Given the description of an element on the screen output the (x, y) to click on. 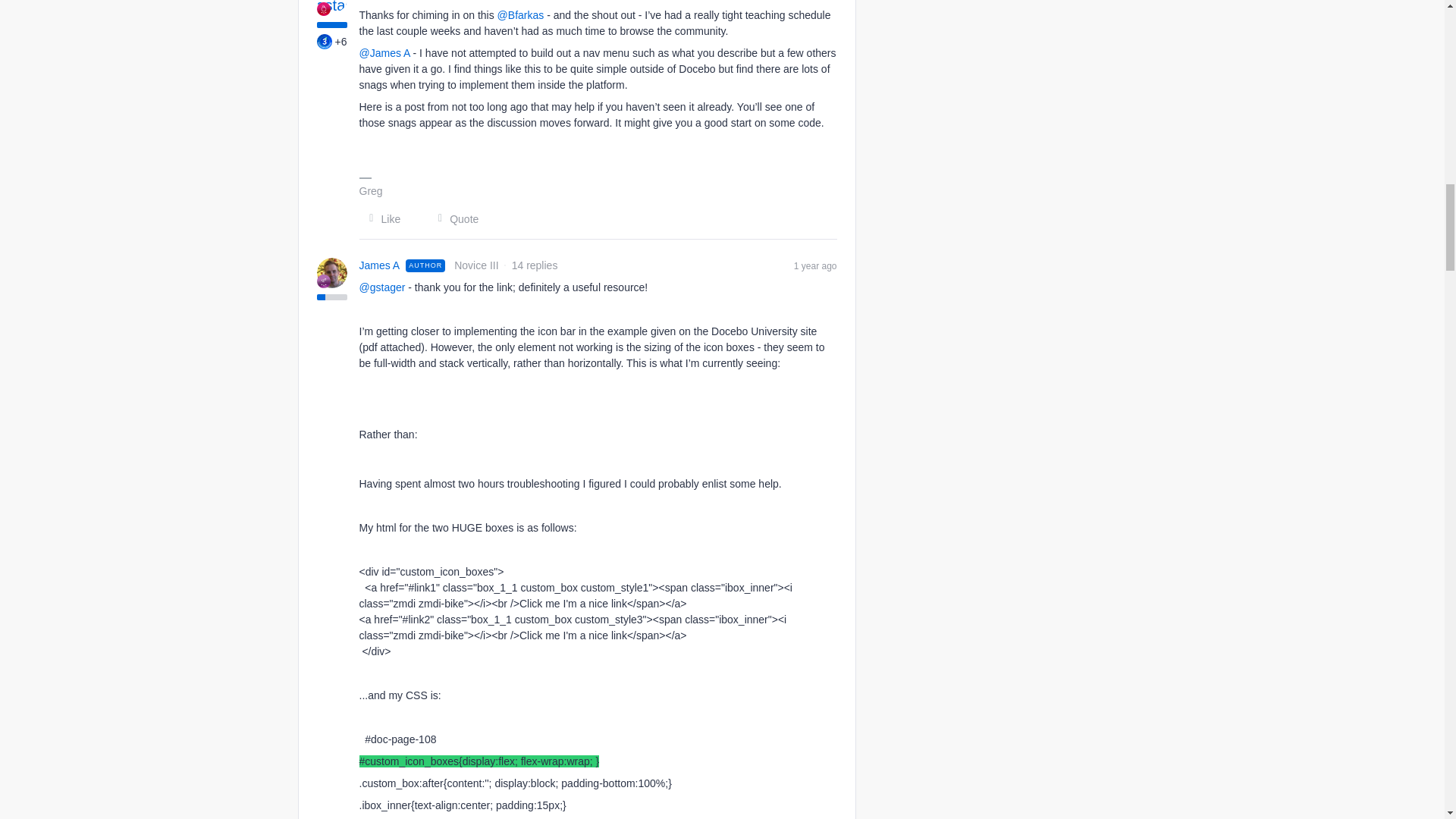
Community 3rd Birthday (324, 41)
Like (380, 218)
Novice III (323, 281)
gstager (378, 0)
1 year ago (815, 265)
Quote (453, 218)
gstager (378, 0)
James A (379, 265)
Hero III (323, 8)
James A (379, 265)
